Given the description of an element on the screen output the (x, y) to click on. 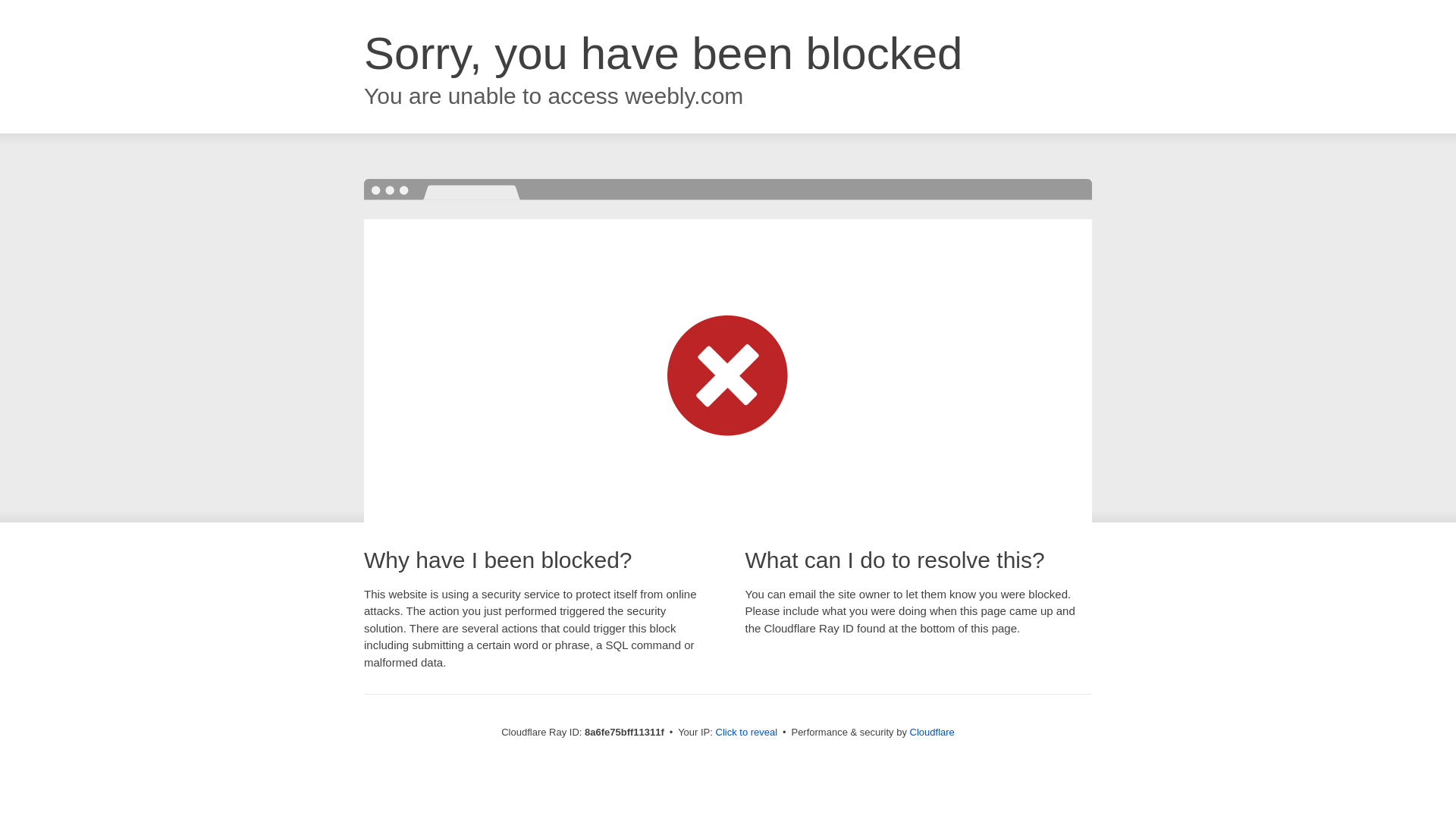
Click to reveal (746, 732)
Cloudflare (932, 731)
